Given the description of an element on the screen output the (x, y) to click on. 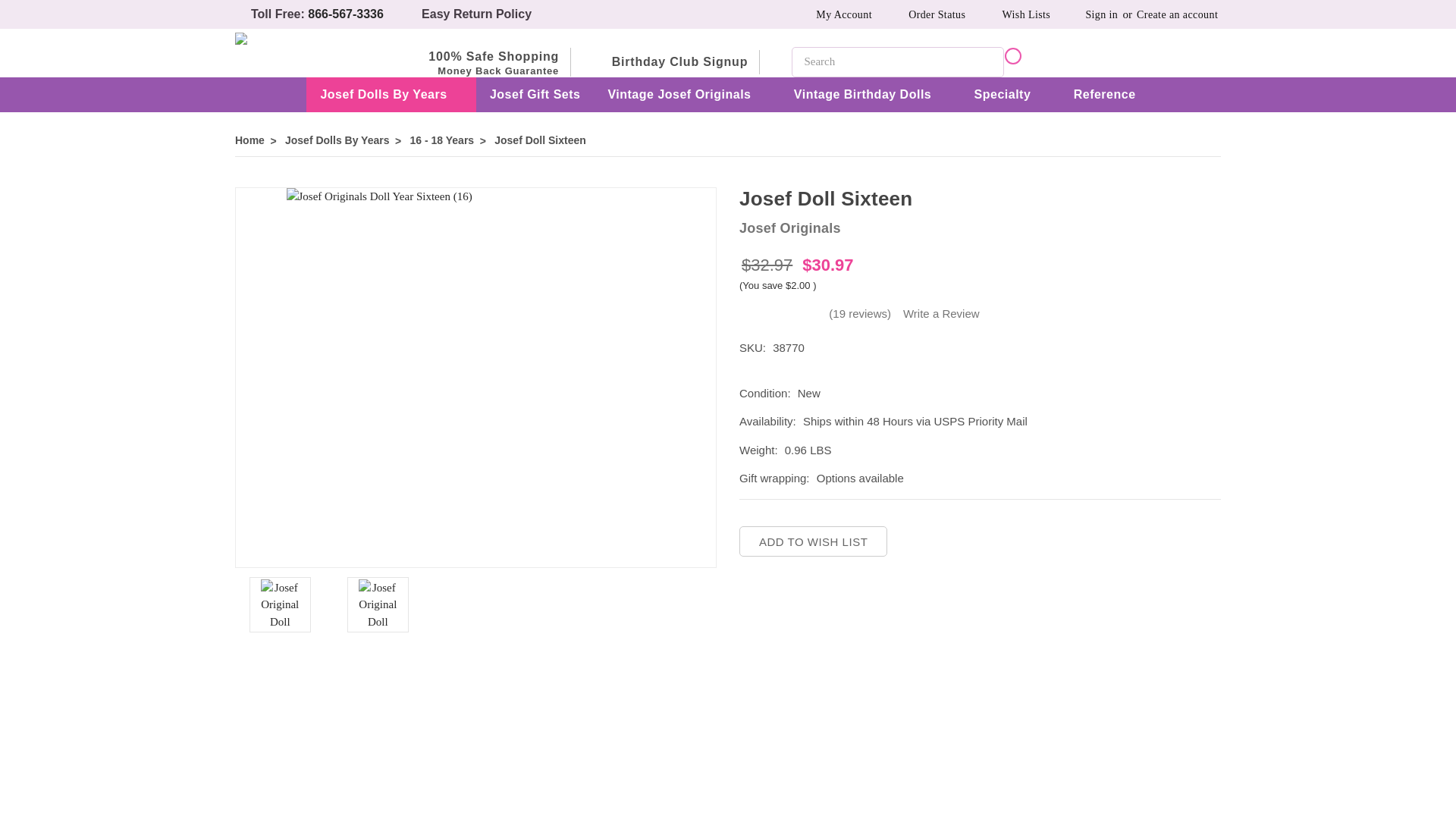
Create an account (1177, 14)
Search (989, 61)
Josef Dolls By Years (390, 94)
Wish Lists (1016, 14)
Order Status (927, 14)
Specialty (1009, 94)
JosefDolls.com (242, 38)
Sign in (1093, 14)
Josef Gift Sets (535, 94)
Search (989, 61)
